Given the description of an element on the screen output the (x, y) to click on. 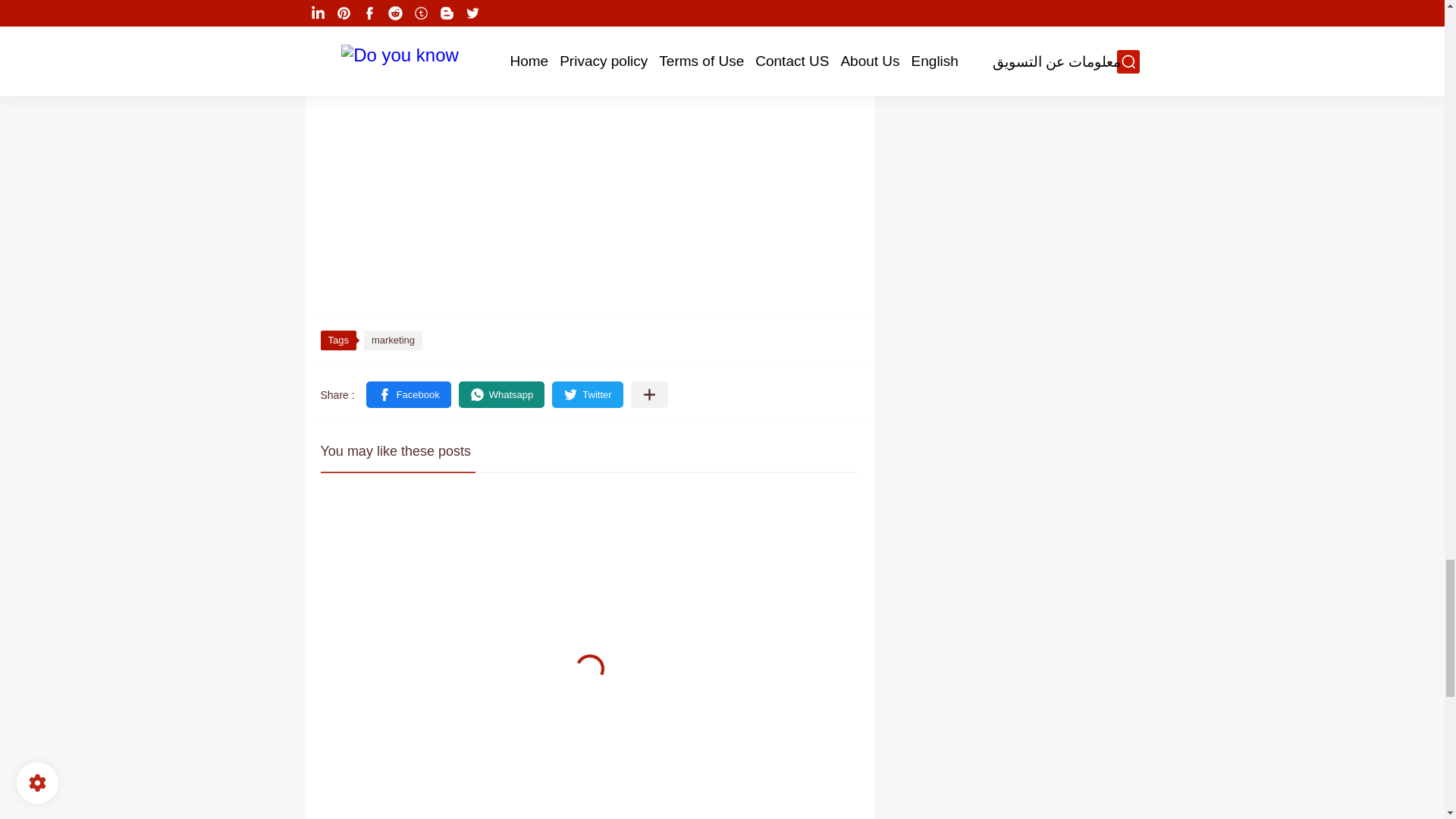
marketing (393, 340)
marketing (823, 38)
